Given the description of an element on the screen output the (x, y) to click on. 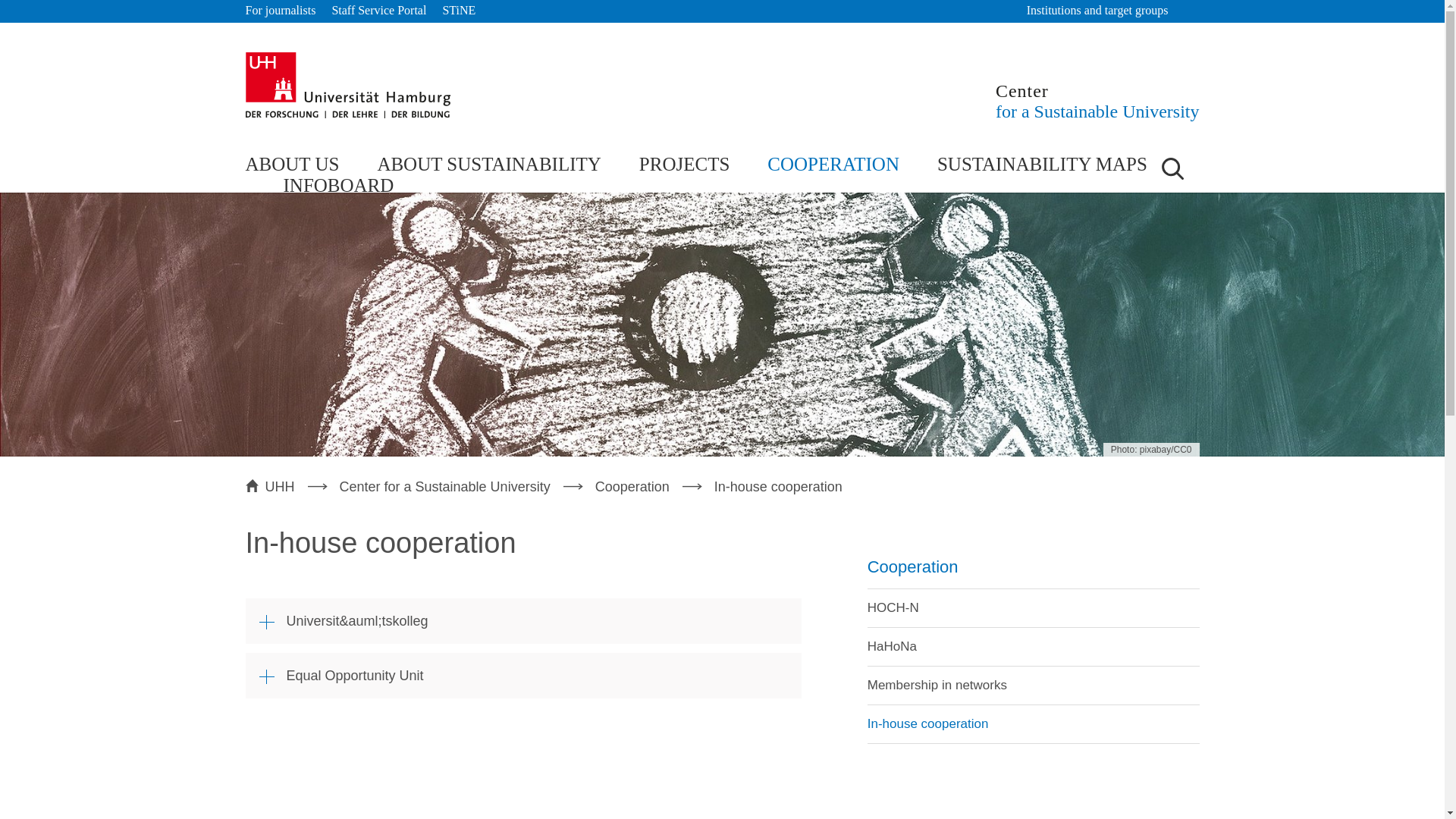
Inhalt anzeigen (524, 675)
Institutions and target groups (1104, 11)
Page logo: Home (1097, 101)
STiNE (459, 11)
Staff Service Portal (378, 11)
Home (347, 84)
For journalists (280, 11)
Inhalt anzeigen (524, 620)
